Given the description of an element on the screen output the (x, y) to click on. 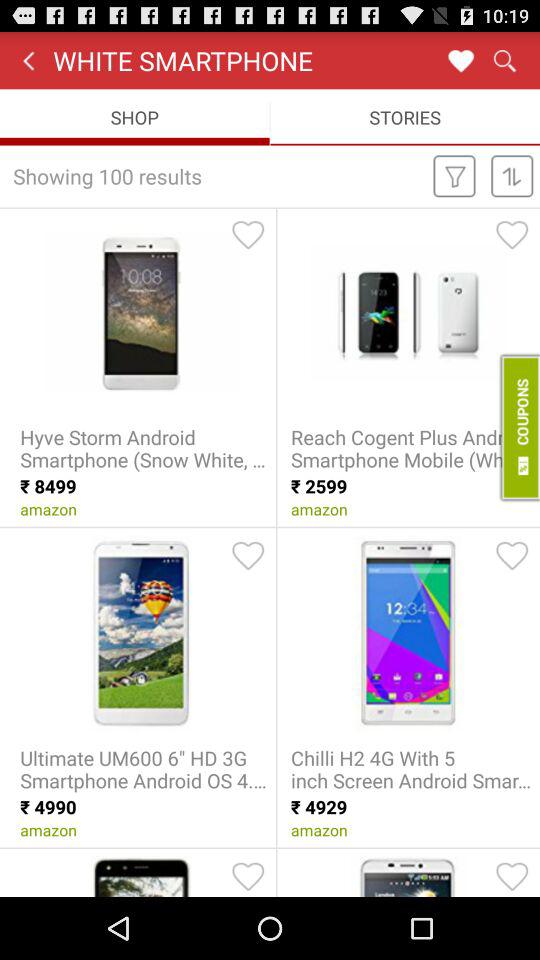
add to favorites (512, 234)
